Given the description of an element on the screen output the (x, y) to click on. 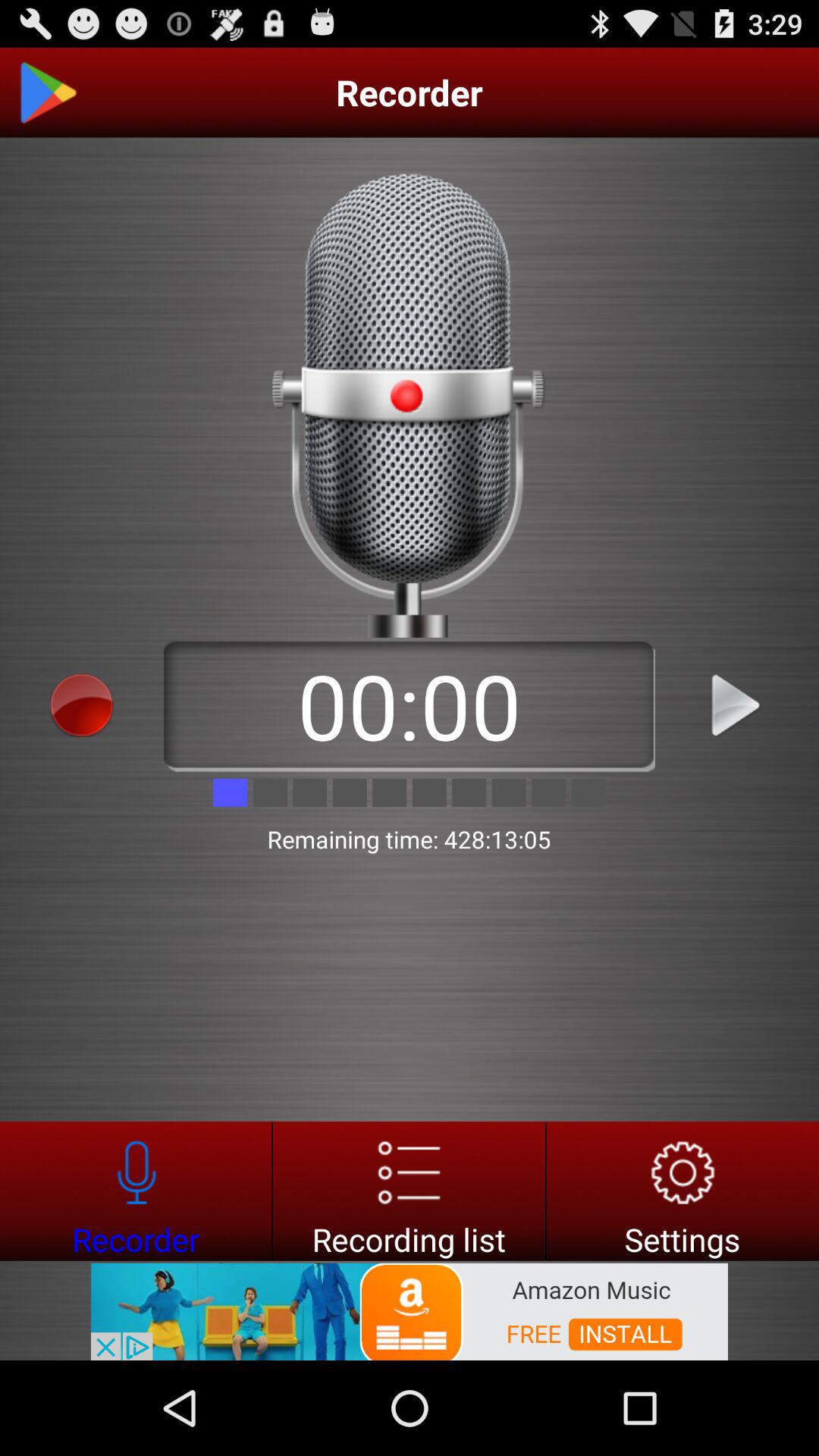
click to recording list option (409, 1190)
